Given the description of an element on the screen output the (x, y) to click on. 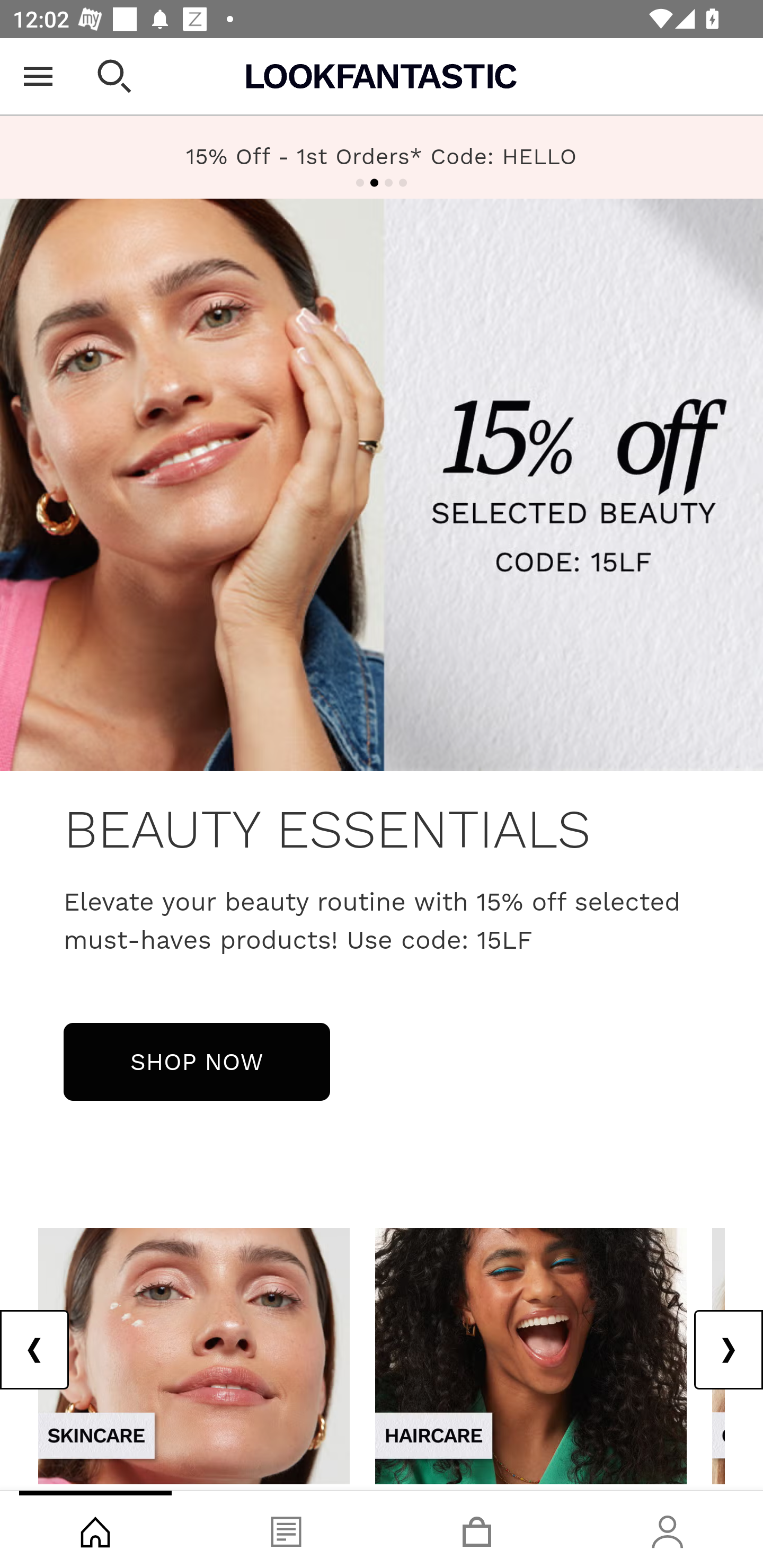
Open Menu (38, 75)
Open search (114, 75)
Lookfantastic USA (381, 75)
SHOP NOW (196, 1061)
view-all (193, 1355)
view-all (530, 1355)
Previous (35, 1349)
Next (727, 1349)
Shop, tab, 1 of 4 (95, 1529)
Blog, tab, 2 of 4 (285, 1529)
Basket, tab, 3 of 4 (476, 1529)
Account, tab, 4 of 4 (667, 1529)
